Given the description of an element on the screen output the (x, y) to click on. 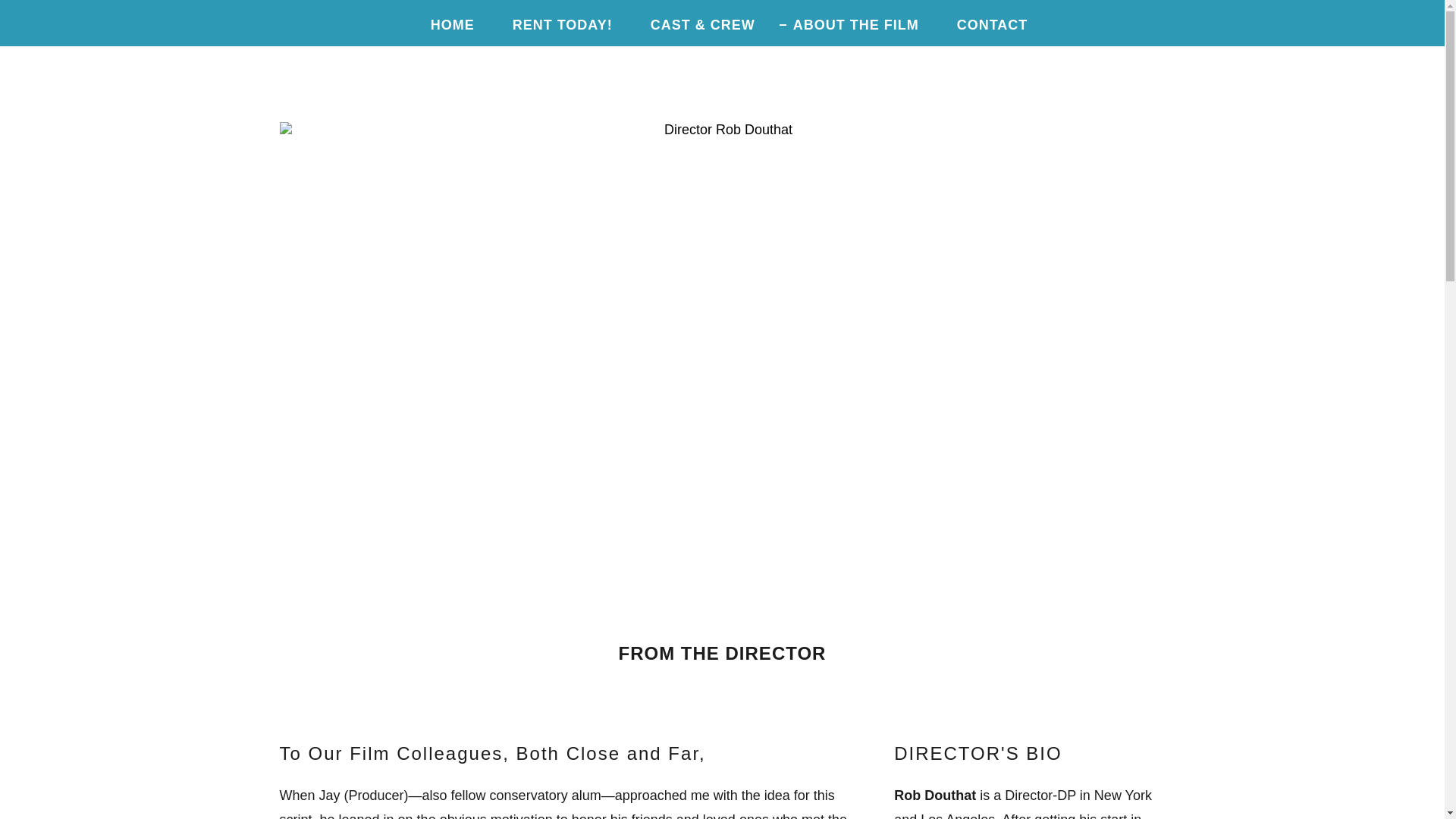
RENT TODAY! (556, 24)
ABOUT THE FILM (848, 24)
CONTACT (985, 24)
HOME (445, 24)
